Given the description of an element on the screen output the (x, y) to click on. 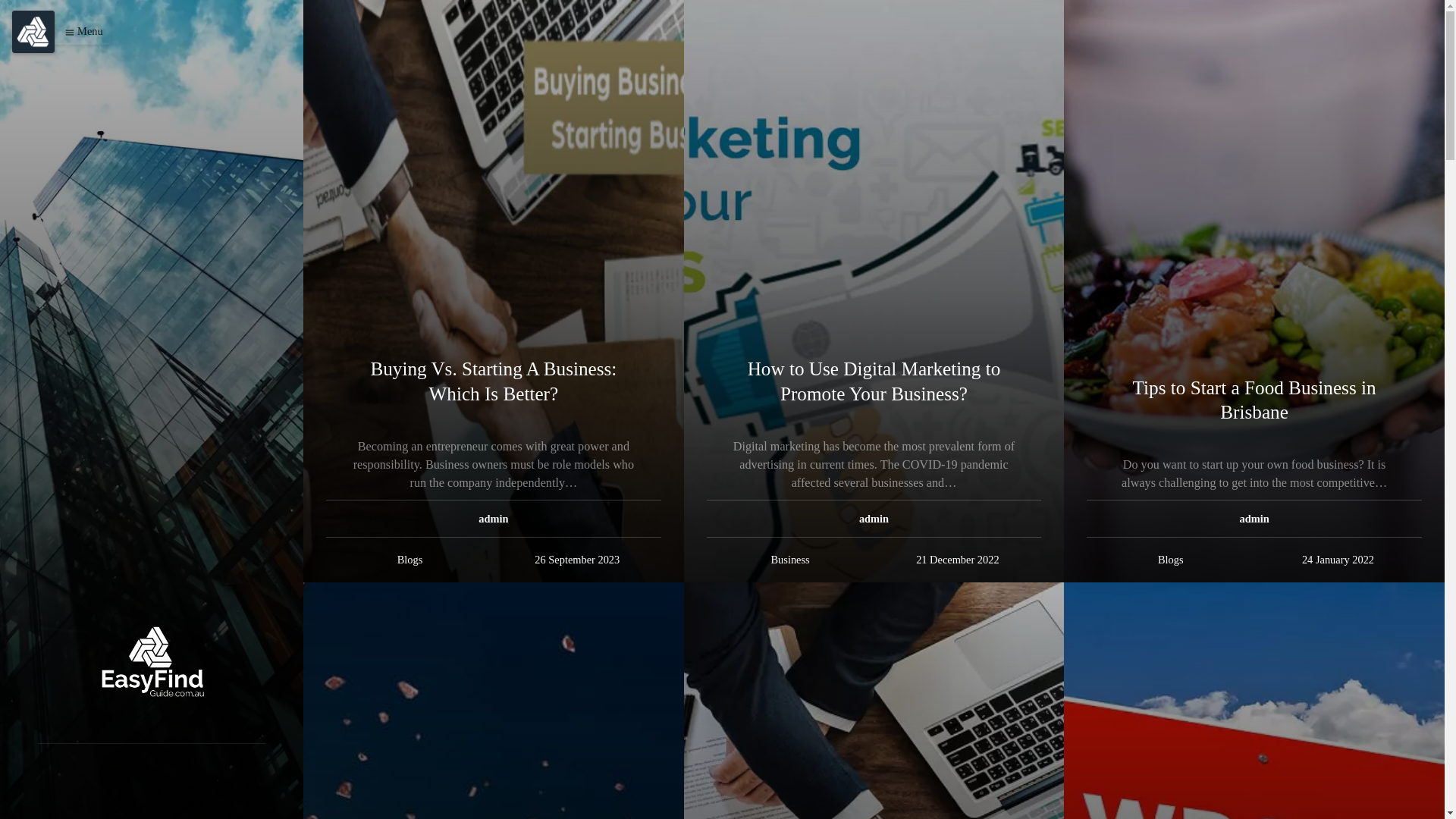
admin Element type: text (873, 518)
How to Use Digital Marketing to Promote Your Business? Element type: text (873, 382)
admin Element type: text (1253, 518)
admin Element type: text (493, 518)
Buying Vs. Starting A Business: Which Is Better? Element type: text (493, 382)
Tips to Start a Food Business in Brisbane Element type: text (1254, 400)
